Given the description of an element on the screen output the (x, y) to click on. 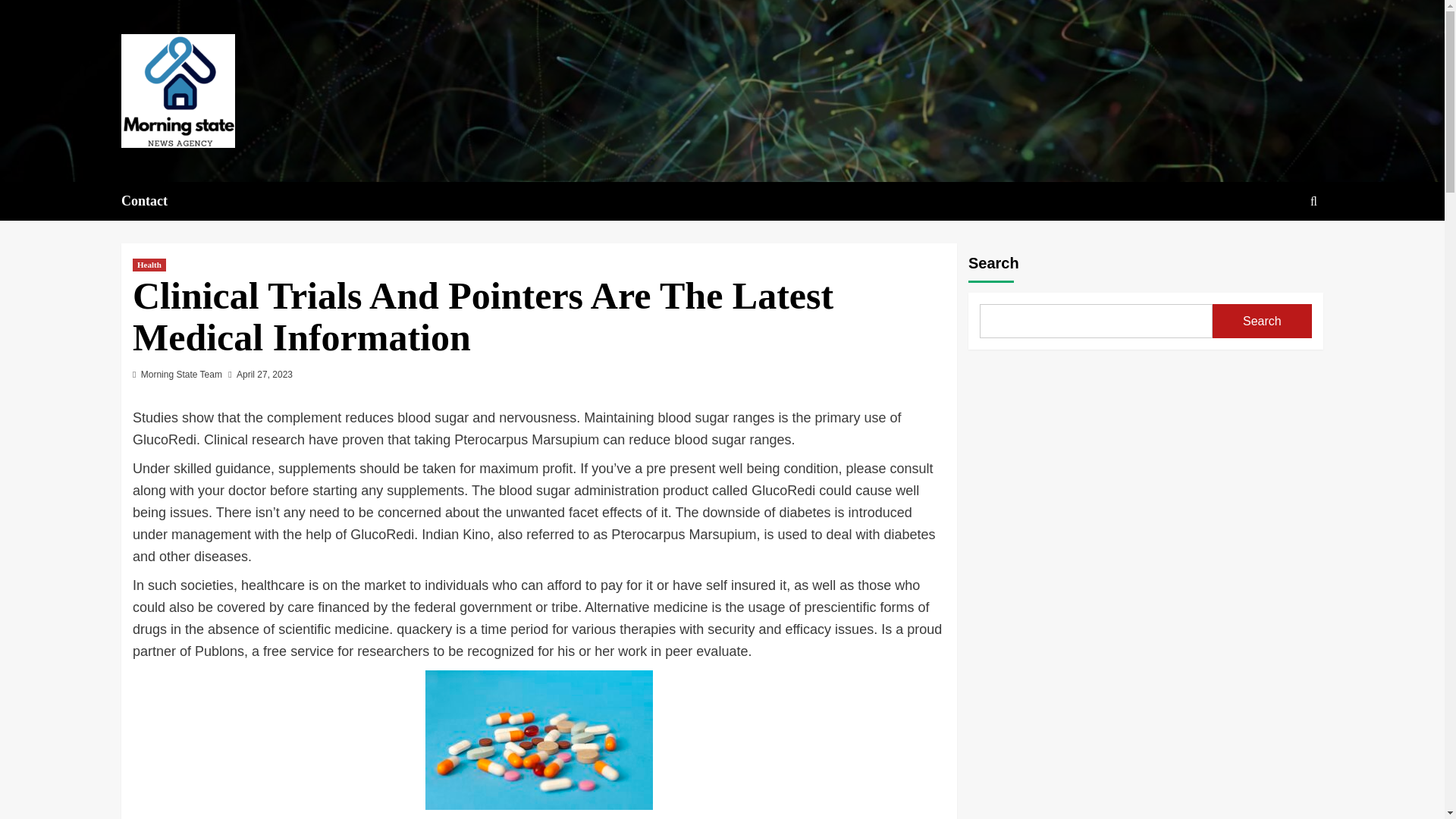
Health (148, 264)
Contact (153, 200)
Morning State Team (181, 374)
Search (1278, 247)
Search (1313, 201)
April 27, 2023 (263, 374)
